Given the description of an element on the screen output the (x, y) to click on. 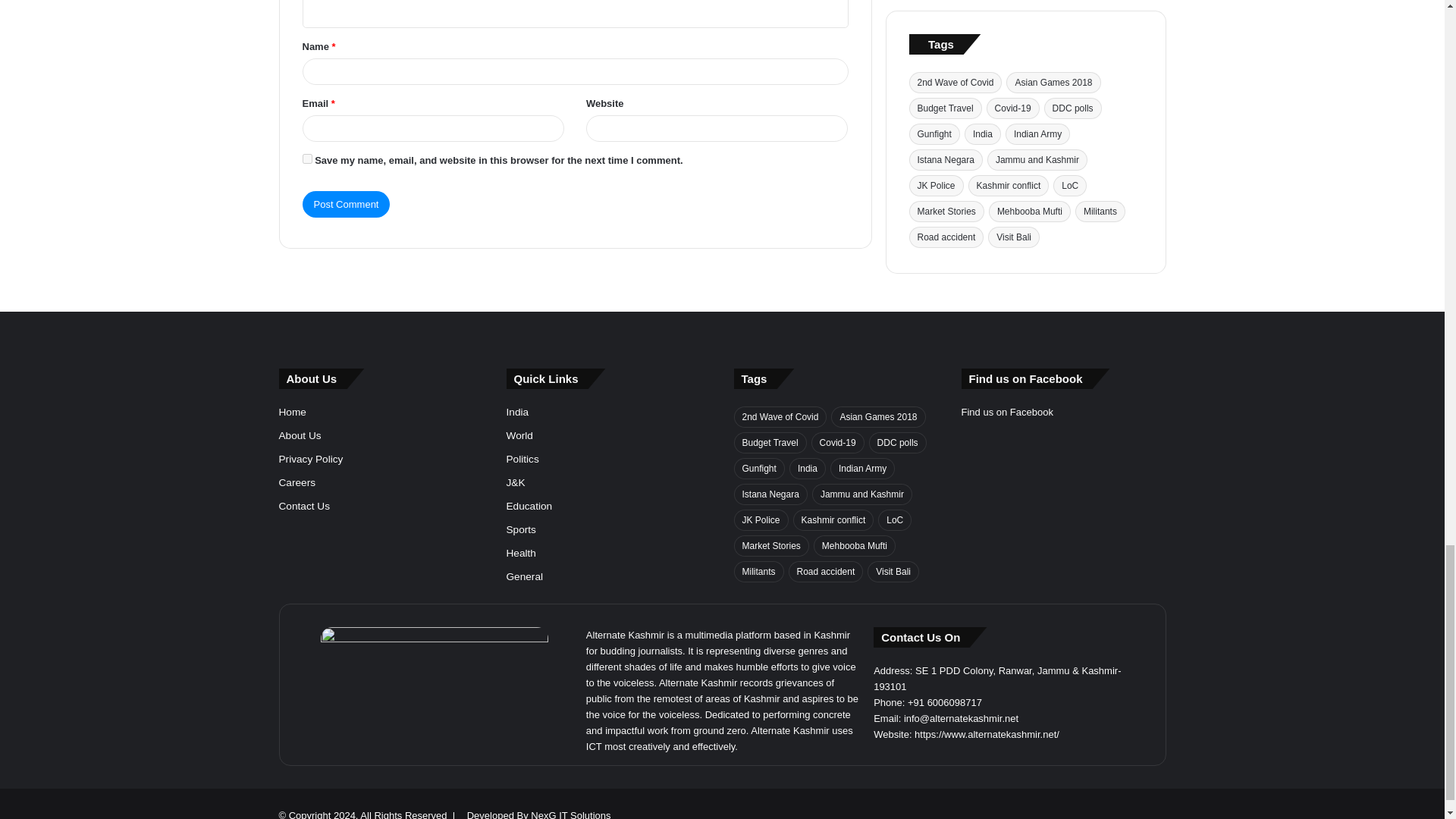
yes (306, 158)
Post Comment (345, 203)
